Given the description of an element on the screen output the (x, y) to click on. 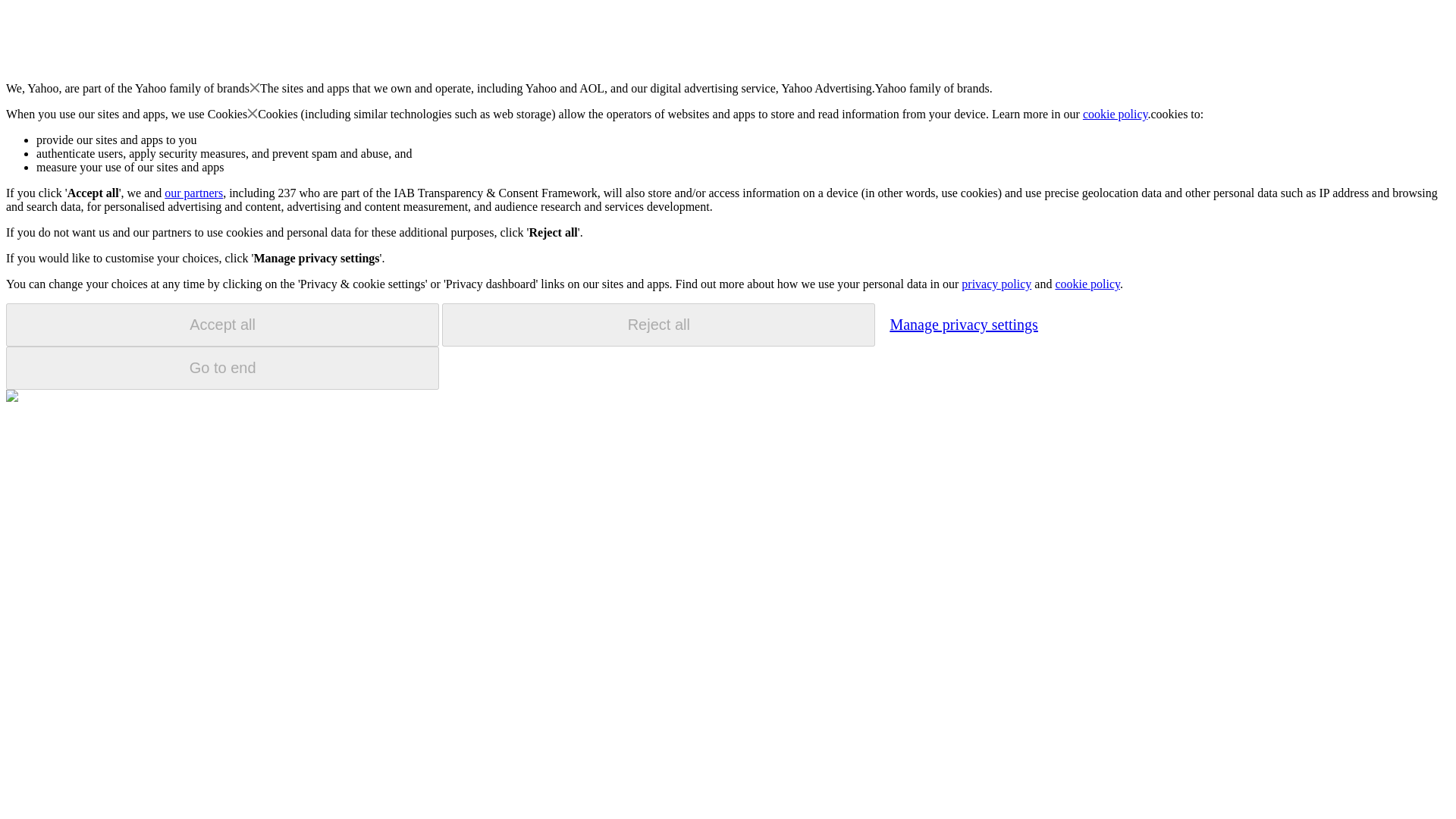
Reject all (658, 324)
privacy policy (995, 283)
Accept all (222, 324)
cookie policy (1086, 283)
Go to end (222, 367)
our partners (193, 192)
cookie policy (1115, 113)
Manage privacy settings (963, 323)
